Given the description of an element on the screen output the (x, y) to click on. 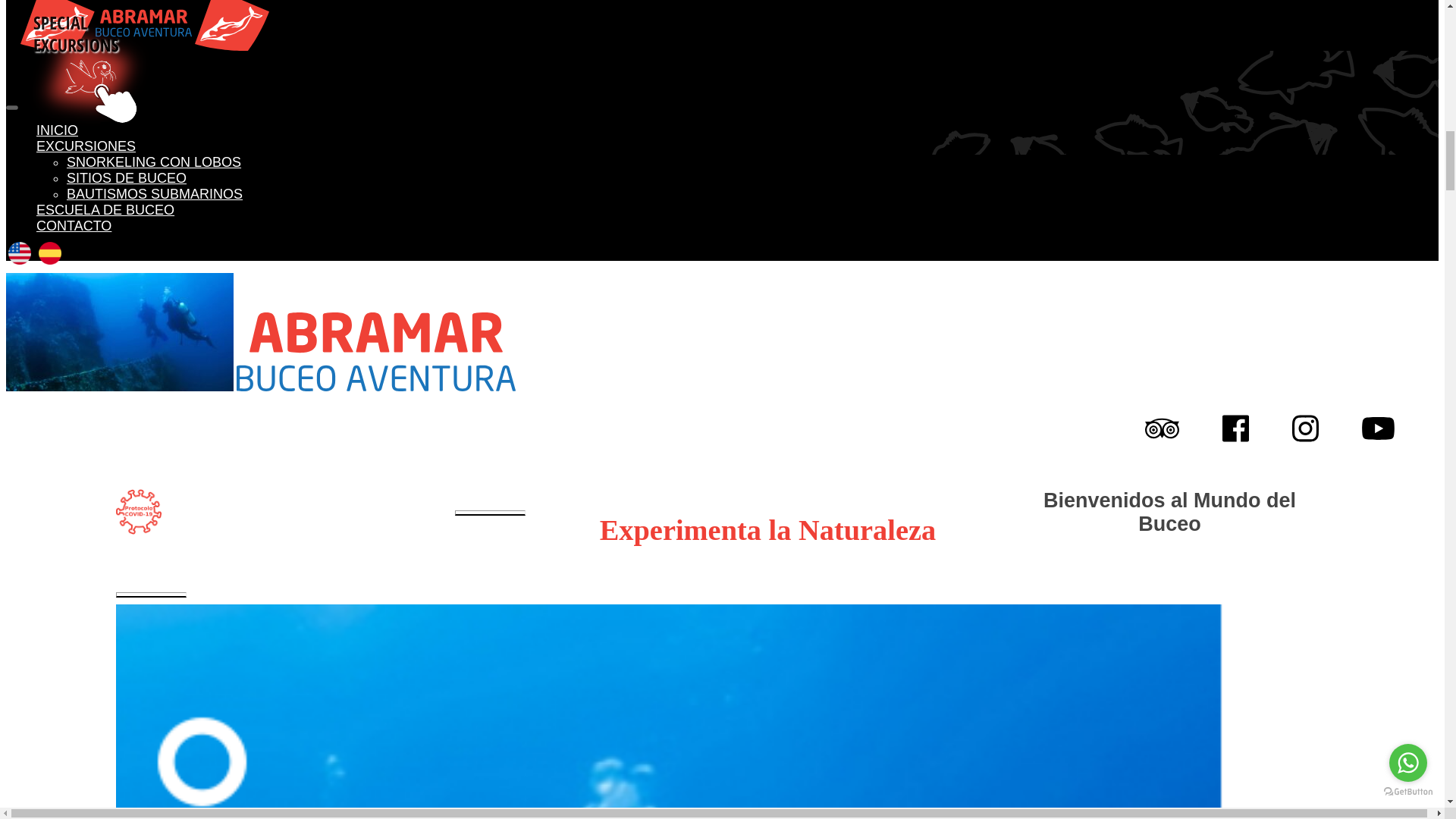
SNORKELING CON LOBOS (153, 161)
Menu (11, 107)
BAUTISMOS SUBMARINOS (154, 193)
EXCURSIONES (85, 145)
ESCUELA DE BUCEO (105, 209)
SITIOS DE BUCEO (126, 177)
CONTACTO (74, 225)
INICIO (57, 130)
